Given the description of an element on the screen output the (x, y) to click on. 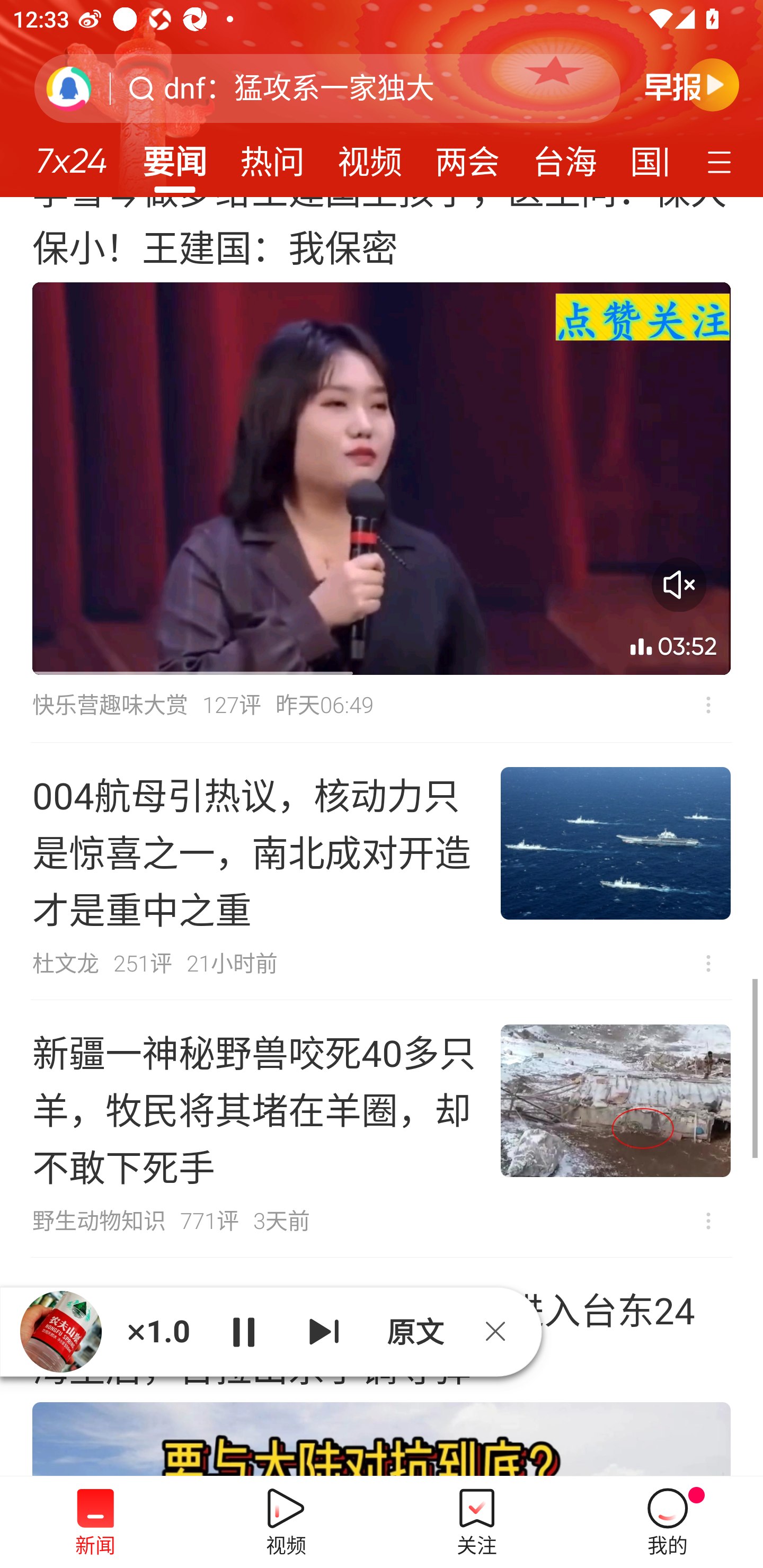
早晚报 (691, 84)
刷新 (68, 88)
dnf：猛攻系一家独大 (299, 88)
7x24 (70, 154)
要闻 (174, 155)
热问 (272, 155)
视频 (369, 155)
两会 (466, 155)
台海 (564, 155)
 定制频道 (721, 160)
音量开关 (678, 583)
 不感兴趣 (707, 704)
 不感兴趣 (707, 963)
 不感兴趣 (707, 1221)
播放器 (60, 1331)
 播放 (242, 1330)
 下一个 (323, 1330)
 关闭 (501, 1330)
原文 (413, 1331)
 1.0 (157, 1330)
